Given the description of an element on the screen output the (x, y) to click on. 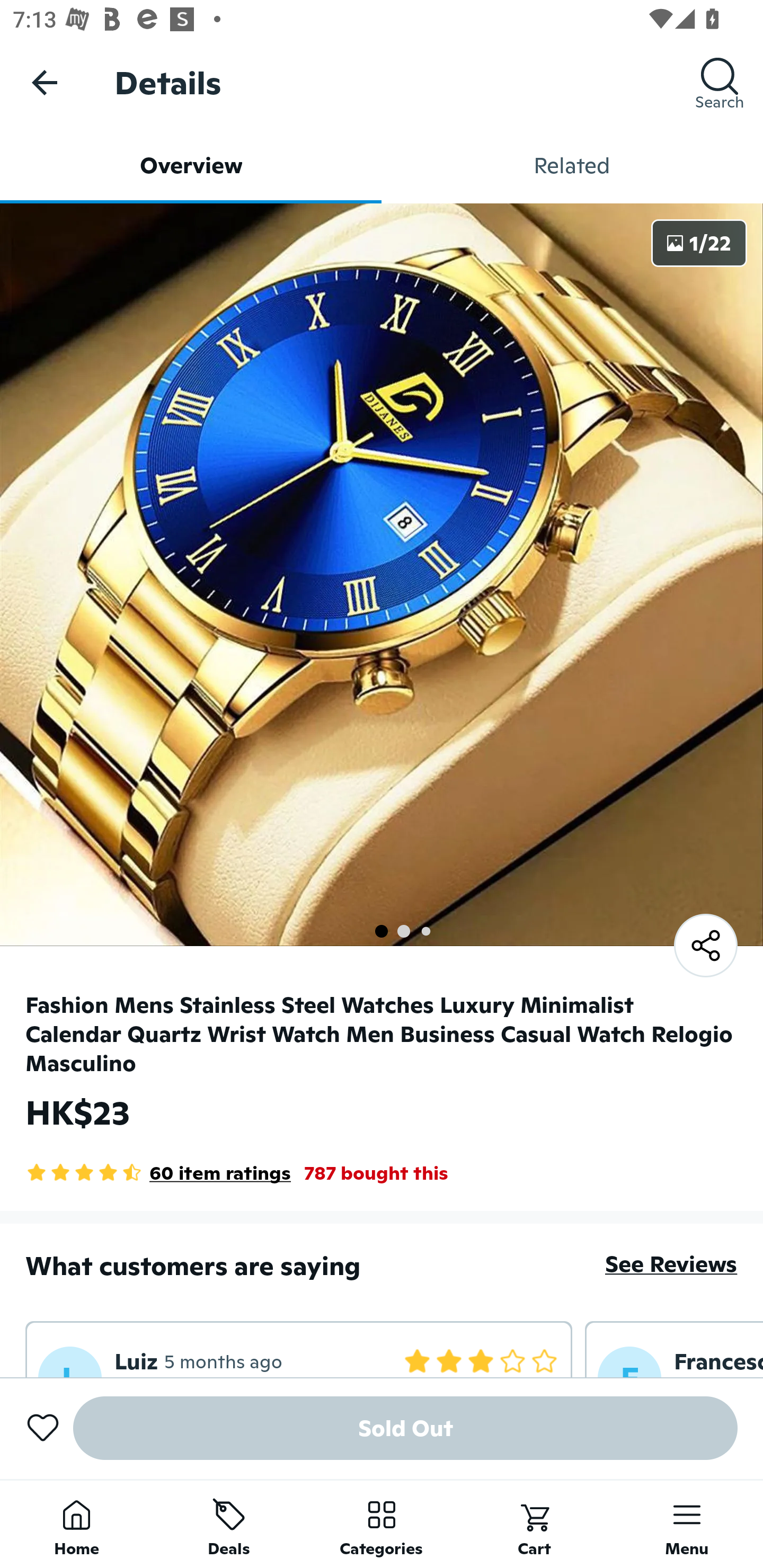
Navigate up (44, 82)
Search (719, 82)
Related (572, 165)
1/22 (699, 242)
4.3 Star Rating 60 item ratings (158, 1172)
See Reviews (671, 1264)
L Luiz 5 months ago 3 Star Rating Joined 2021  (298, 1348)
Sold Out (405, 1428)
Home (76, 1523)
Deals (228, 1523)
Categories (381, 1523)
Cart (533, 1523)
Menu (686, 1523)
